Given the description of an element on the screen output the (x, y) to click on. 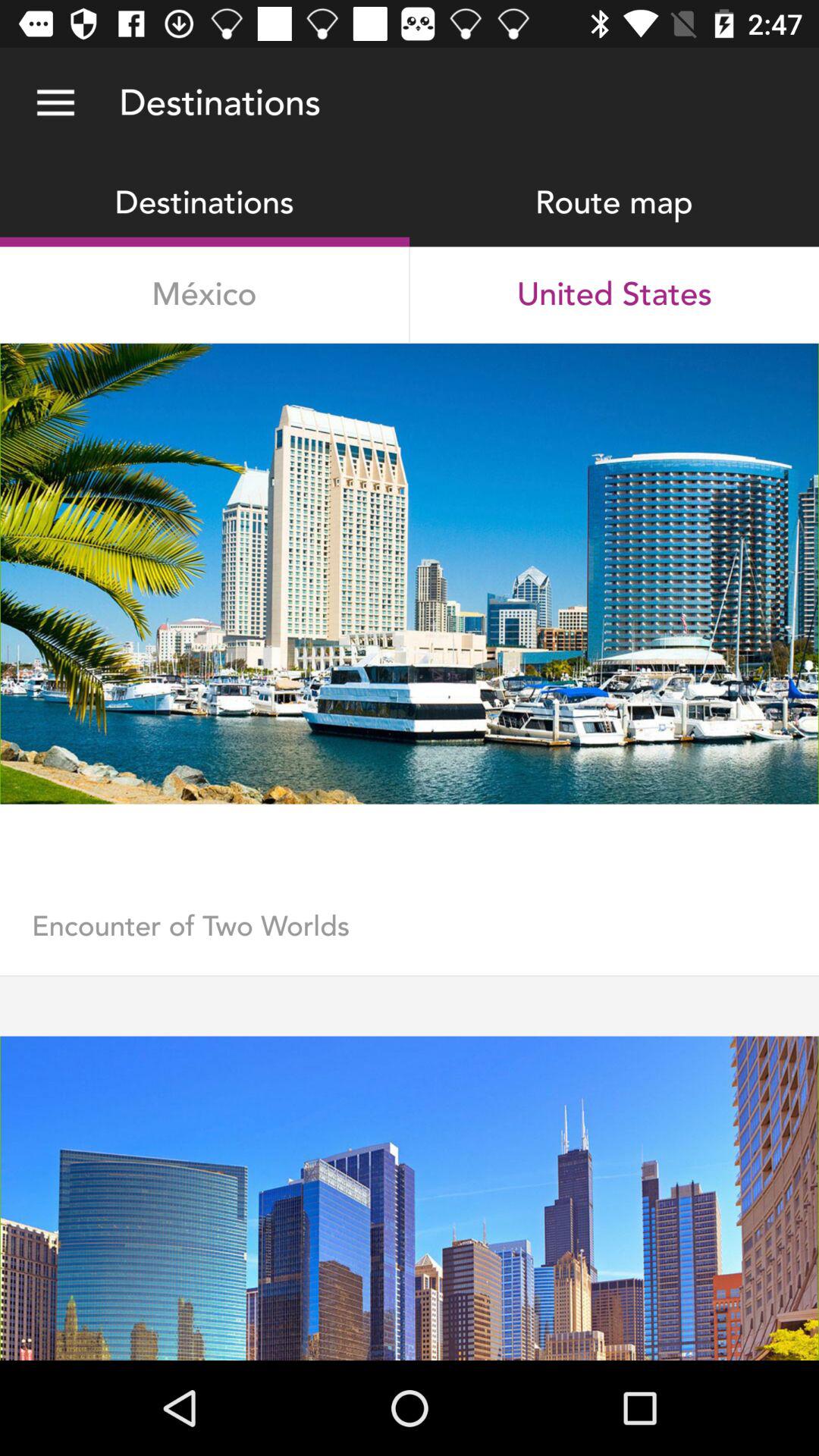
turn off the icon next to the destinations (55, 103)
